Given the description of an element on the screen output the (x, y) to click on. 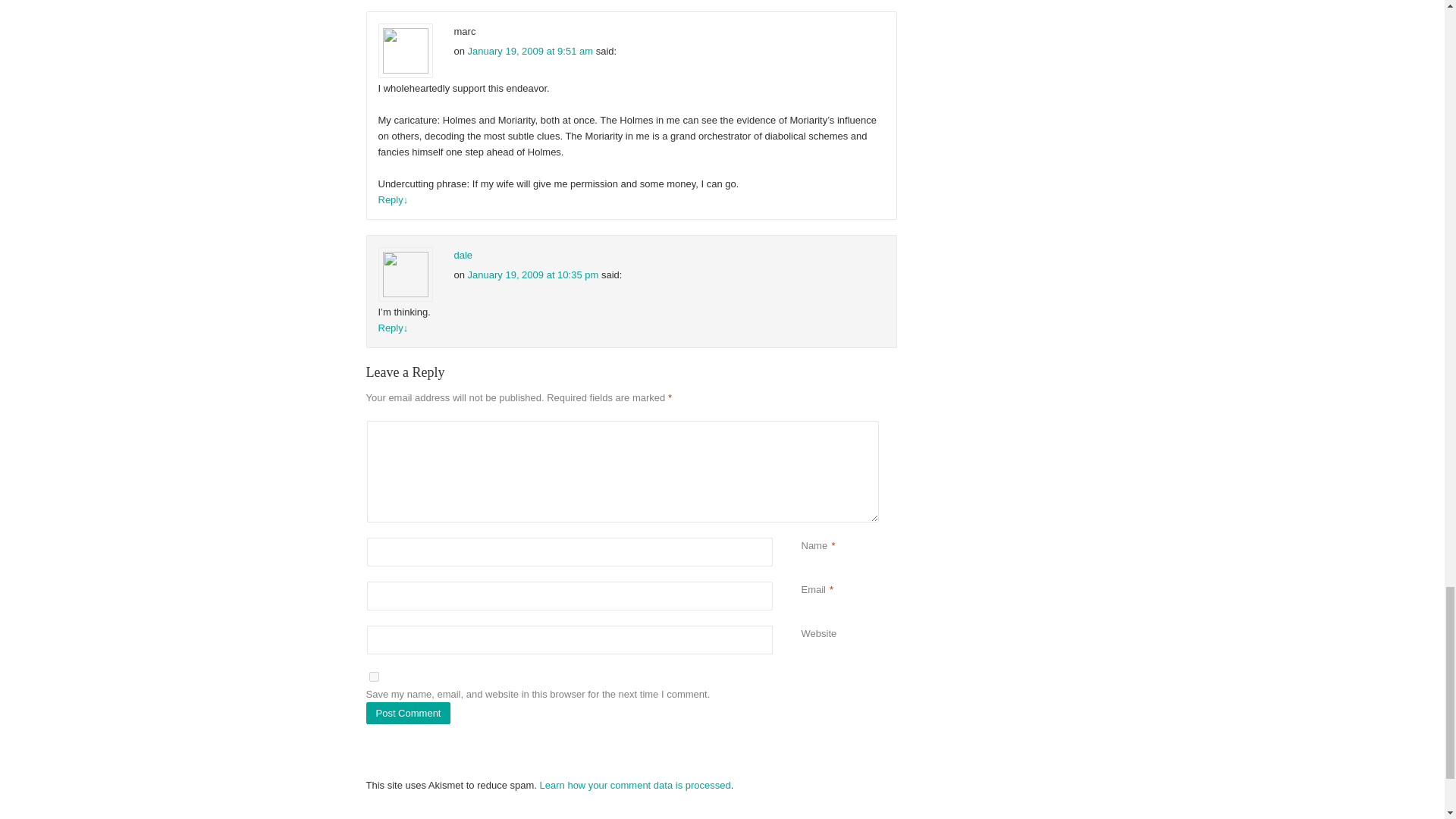
dale (461, 255)
Post Comment (407, 712)
Post Comment (407, 712)
Learn how your comment data is processed (635, 785)
January 19, 2009 at 9:51 am (530, 50)
yes (373, 676)
January 19, 2009 at 10:35 pm (532, 274)
